Given the description of an element on the screen output the (x, y) to click on. 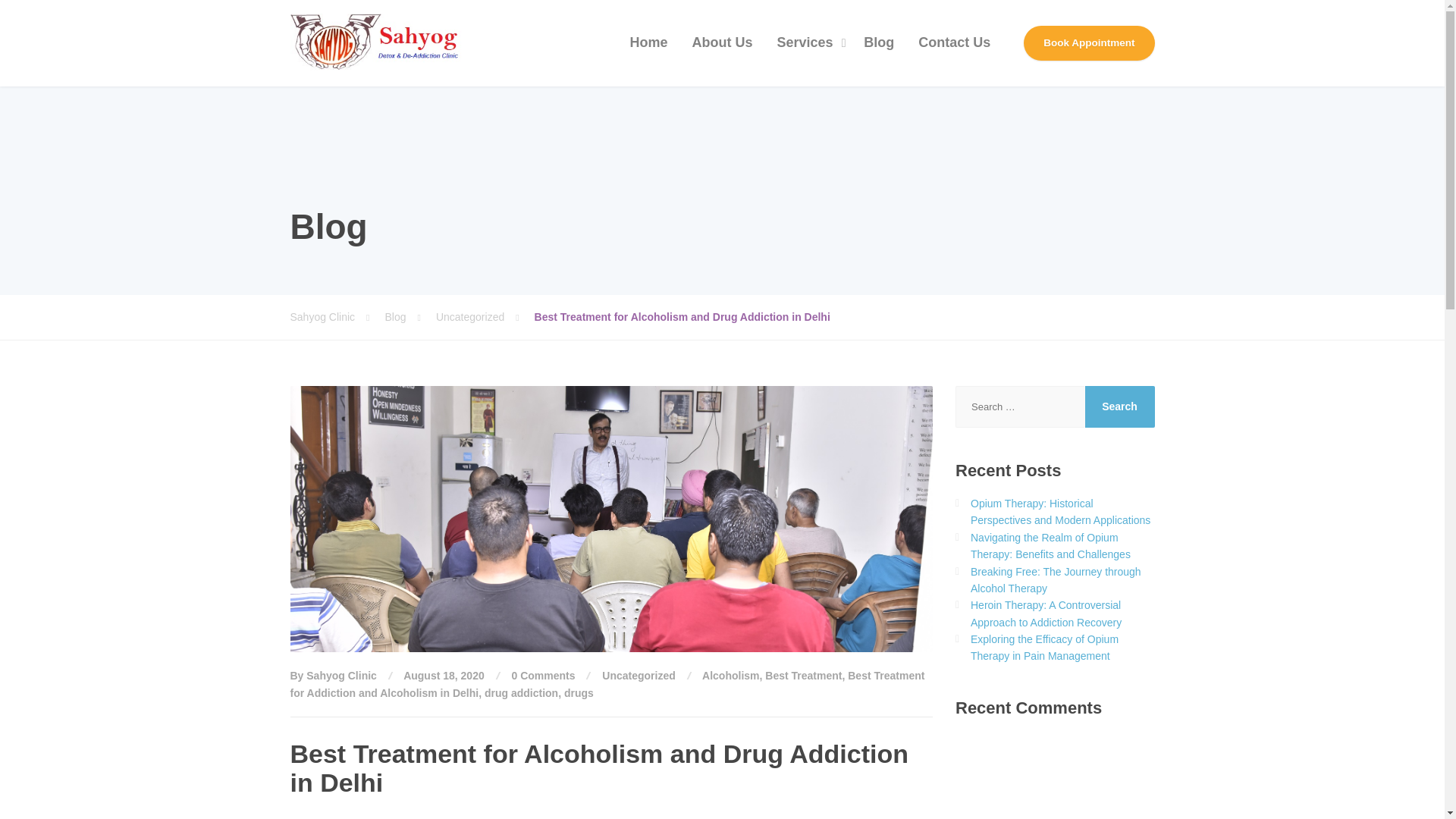
Go to Blog. (410, 316)
Book Appointment (1088, 42)
Home (649, 43)
Sahyog Clinic (376, 42)
Sahyog Clinic (336, 316)
0 Comments (543, 675)
drug addiction (520, 693)
Search (1119, 406)
Blog (878, 43)
Go to Sahyog Clinic. (336, 316)
Uncategorized (638, 675)
Blog (410, 316)
Services (807, 43)
Best Treatment for Addiction and Alcoholism in Delhi (606, 683)
Best Treatment (803, 675)
